Given the description of an element on the screen output the (x, y) to click on. 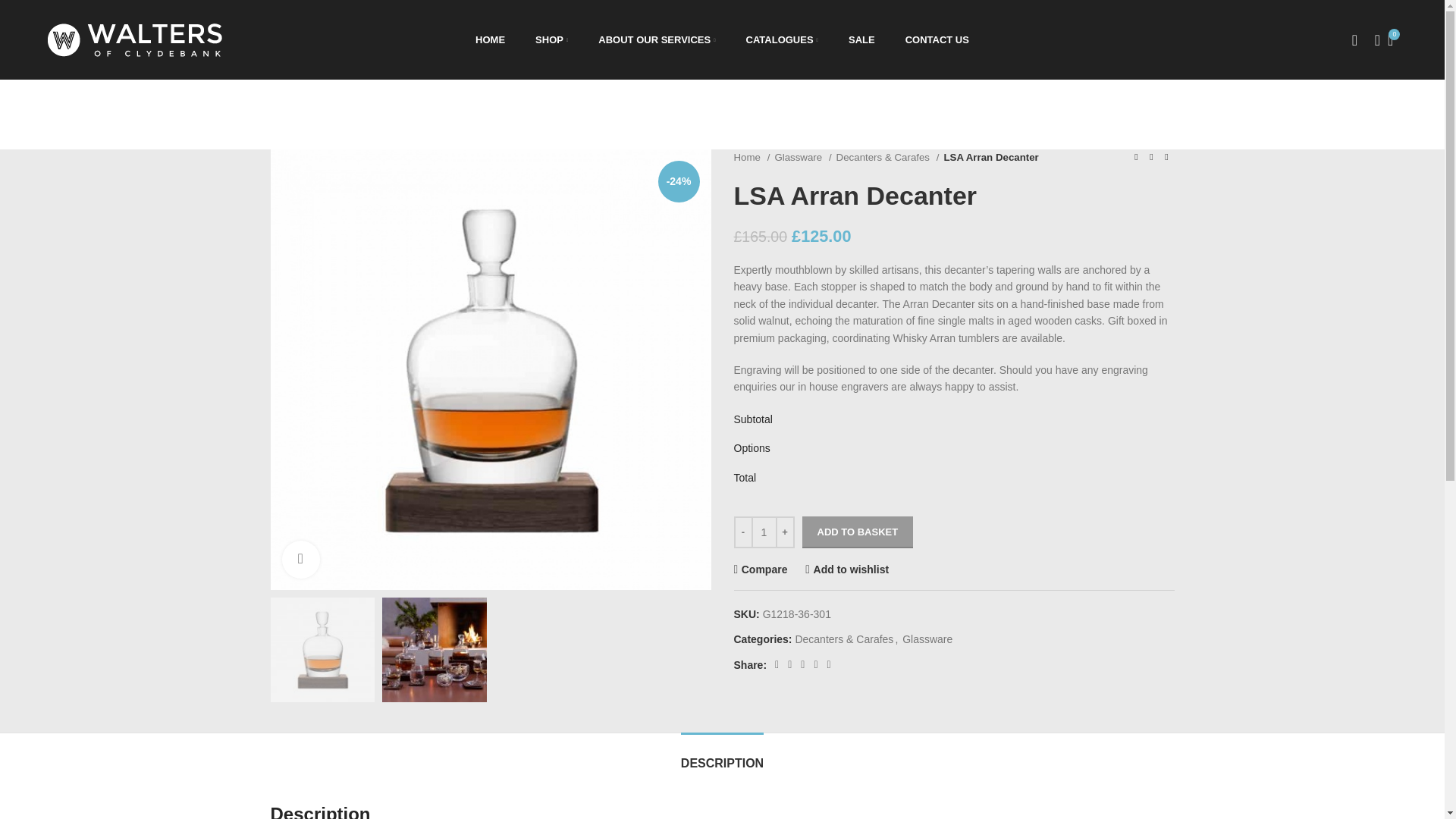
SHOP (551, 39)
HOME (275, 701)
wd-cursor-light (490, 39)
wd-envelope-light (275, 679)
